Given the description of an element on the screen output the (x, y) to click on. 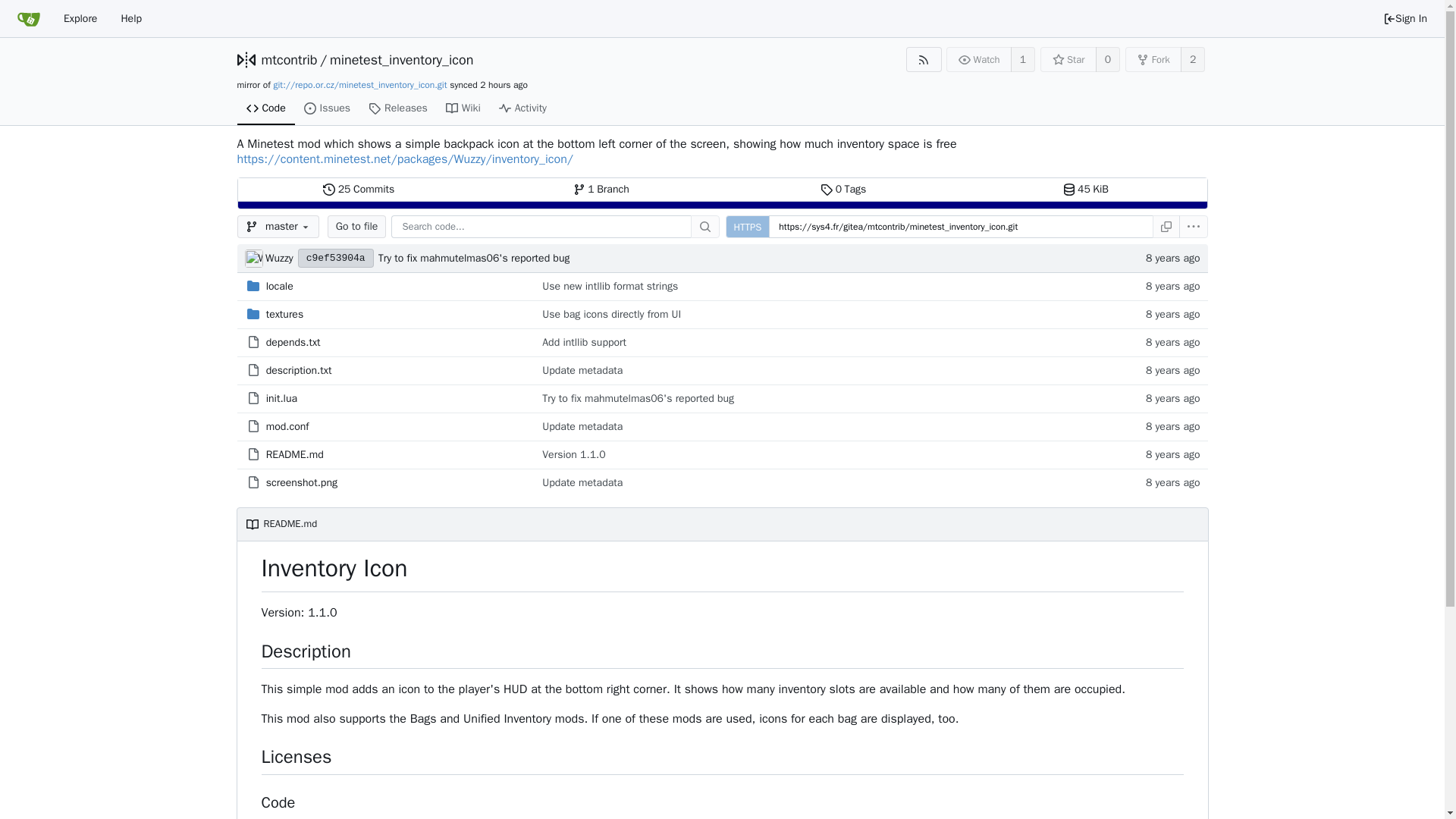
init.lua (281, 398)
Explore (79, 17)
description.txt (298, 370)
HTTPS (747, 226)
README.md (294, 454)
Star (1068, 59)
2 (1192, 59)
locale (280, 285)
Wuzzy (279, 258)
Wiki (462, 108)
Help (130, 17)
Try to fix mahmutelmas06's reported bug (758, 258)
mtcontrib (359, 189)
Code (288, 59)
